Given the description of an element on the screen output the (x, y) to click on. 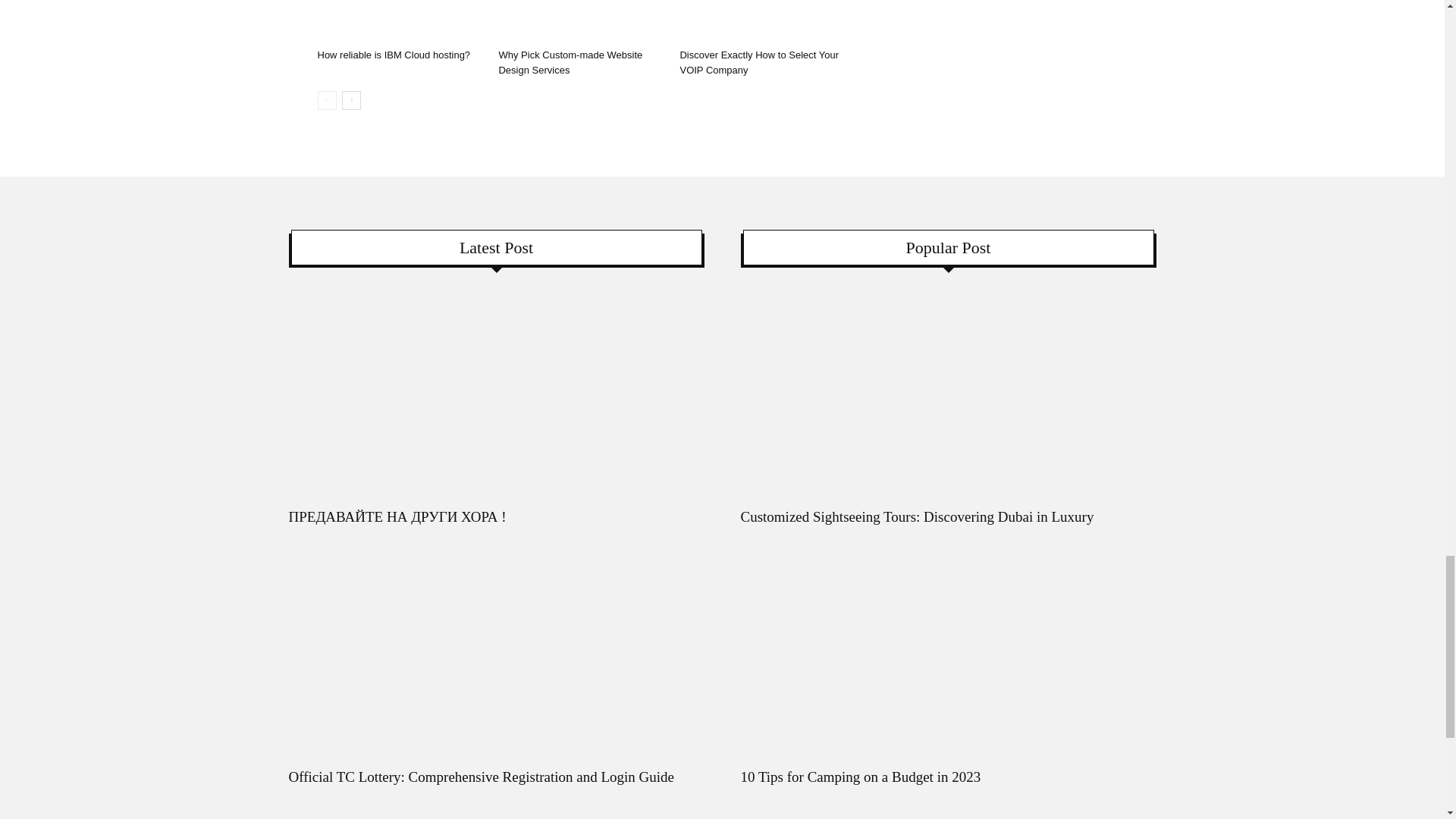
Discover Exactly How to Select Your VOIP Company (761, 21)
Why Pick Custom-made Website Design Services (580, 21)
How reliable is IBM Cloud hosting? (399, 21)
How reliable is IBM Cloud hosting? (393, 54)
Why Pick Custom-made Website Design Services (569, 62)
